Given the description of an element on the screen output the (x, y) to click on. 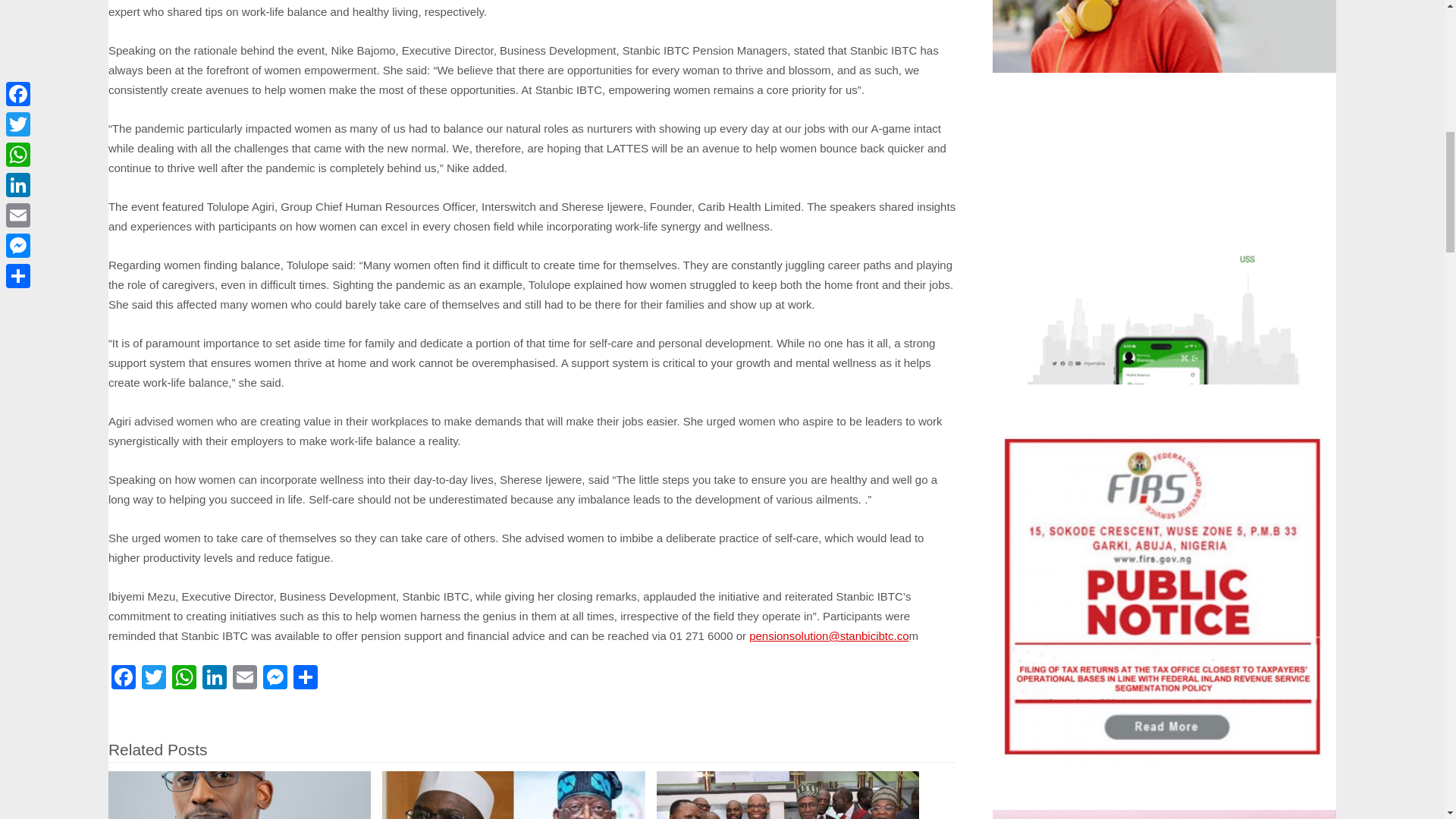
Messenger (274, 678)
Facebook (122, 678)
WhatsApp (183, 678)
LinkedIn (214, 678)
Email (245, 678)
Twitter (153, 678)
